Given the description of an element on the screen output the (x, y) to click on. 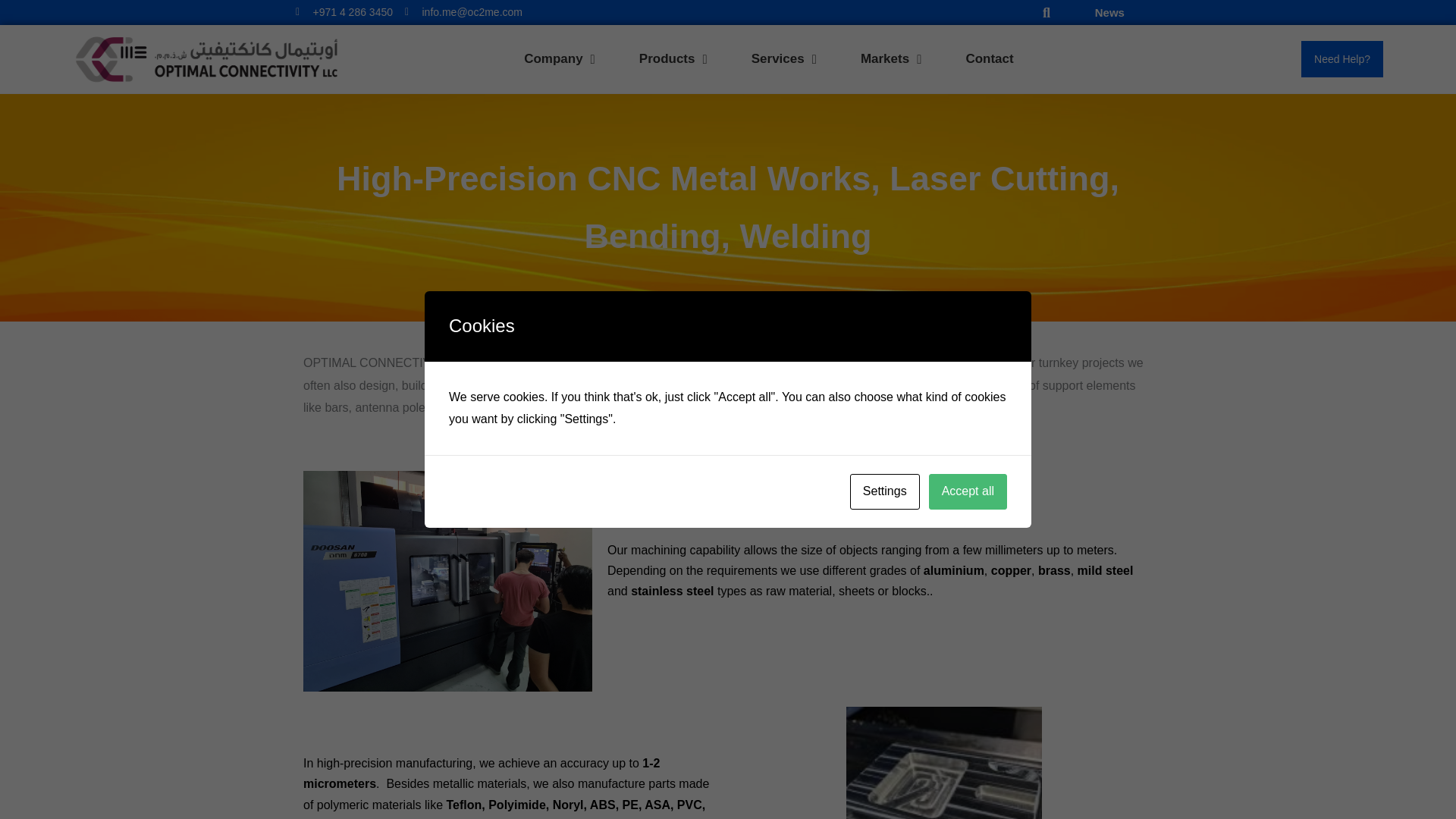
News (1109, 11)
